Given the description of an element on the screen output the (x, y) to click on. 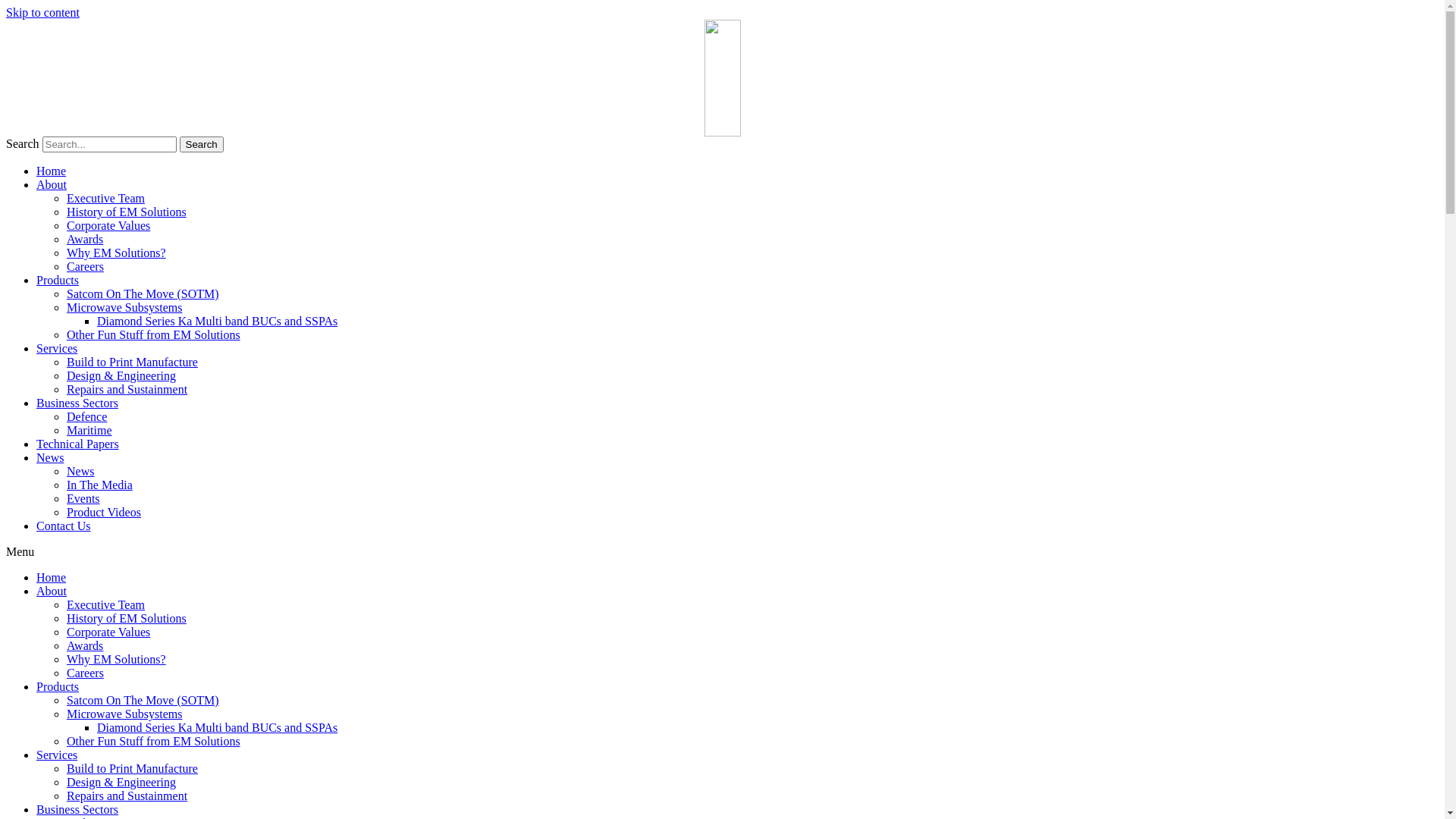
Business Sectors Element type: text (77, 402)
Careers Element type: text (84, 266)
Home Element type: text (50, 170)
Executive Team Element type: text (105, 604)
Other Fun Stuff from EM Solutions Element type: text (153, 740)
Design & Engineering Element type: text (120, 781)
Other Fun Stuff from EM Solutions Element type: text (153, 334)
Search Element type: text (201, 144)
Contact Us Element type: text (63, 525)
Why EM Solutions? Element type: text (116, 658)
Maritime Element type: text (89, 429)
Build to Print Manufacture Element type: text (131, 361)
Careers Element type: text (84, 672)
Corporate Values Element type: text (108, 631)
Build to Print Manufacture Element type: text (131, 768)
Repairs and Sustainment Element type: text (126, 795)
Design & Engineering Element type: text (120, 375)
Technical Papers Element type: text (77, 443)
Awards Element type: text (84, 238)
Satcom On The Move (SOTM) Element type: text (142, 293)
Why EM Solutions? Element type: text (116, 252)
Microwave Subsystems Element type: text (124, 713)
Diamond Series Ka Multi band BUCs and SSPAs Element type: text (217, 320)
Products Element type: text (57, 686)
Satcom On The Move (SOTM) Element type: text (142, 699)
History of EM Solutions Element type: text (126, 211)
Home Element type: text (50, 577)
Microwave Subsystems Element type: text (124, 307)
Diamond Series Ka Multi band BUCs and SSPAs Element type: text (217, 727)
Defence Element type: text (86, 416)
News Element type: text (80, 470)
Awards Element type: text (84, 645)
Skip to content Element type: text (42, 12)
Executive Team Element type: text (105, 197)
Product Videos Element type: text (103, 511)
Business Sectors Element type: text (77, 809)
Events Element type: text (83, 498)
Repairs and Sustainment Element type: text (126, 388)
Corporate Values Element type: text (108, 225)
In The Media Element type: text (99, 484)
Products Element type: text (57, 279)
Services Element type: text (56, 754)
History of EM Solutions Element type: text (126, 617)
News Element type: text (49, 457)
About Element type: text (51, 590)
About Element type: text (51, 184)
Services Element type: text (56, 348)
